Given the description of an element on the screen output the (x, y) to click on. 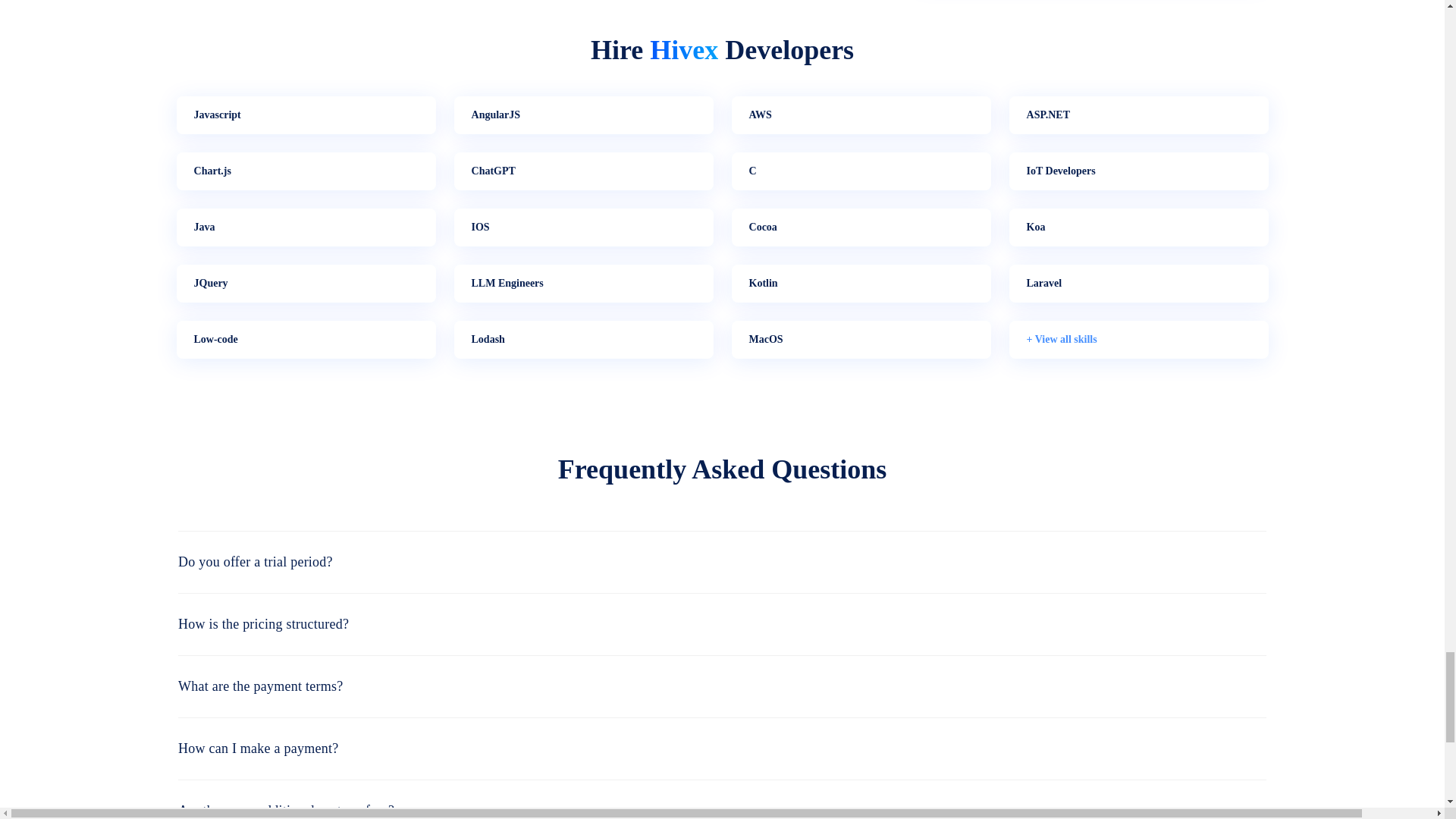
C (860, 171)
IoT Developers (1138, 171)
Java (305, 227)
AWS (860, 115)
Javascript (305, 115)
ChatGPT (582, 171)
AngularJS (582, 115)
iOS (582, 227)
ASP.NET (1138, 115)
Chart.js (305, 171)
